Given the description of an element on the screen output the (x, y) to click on. 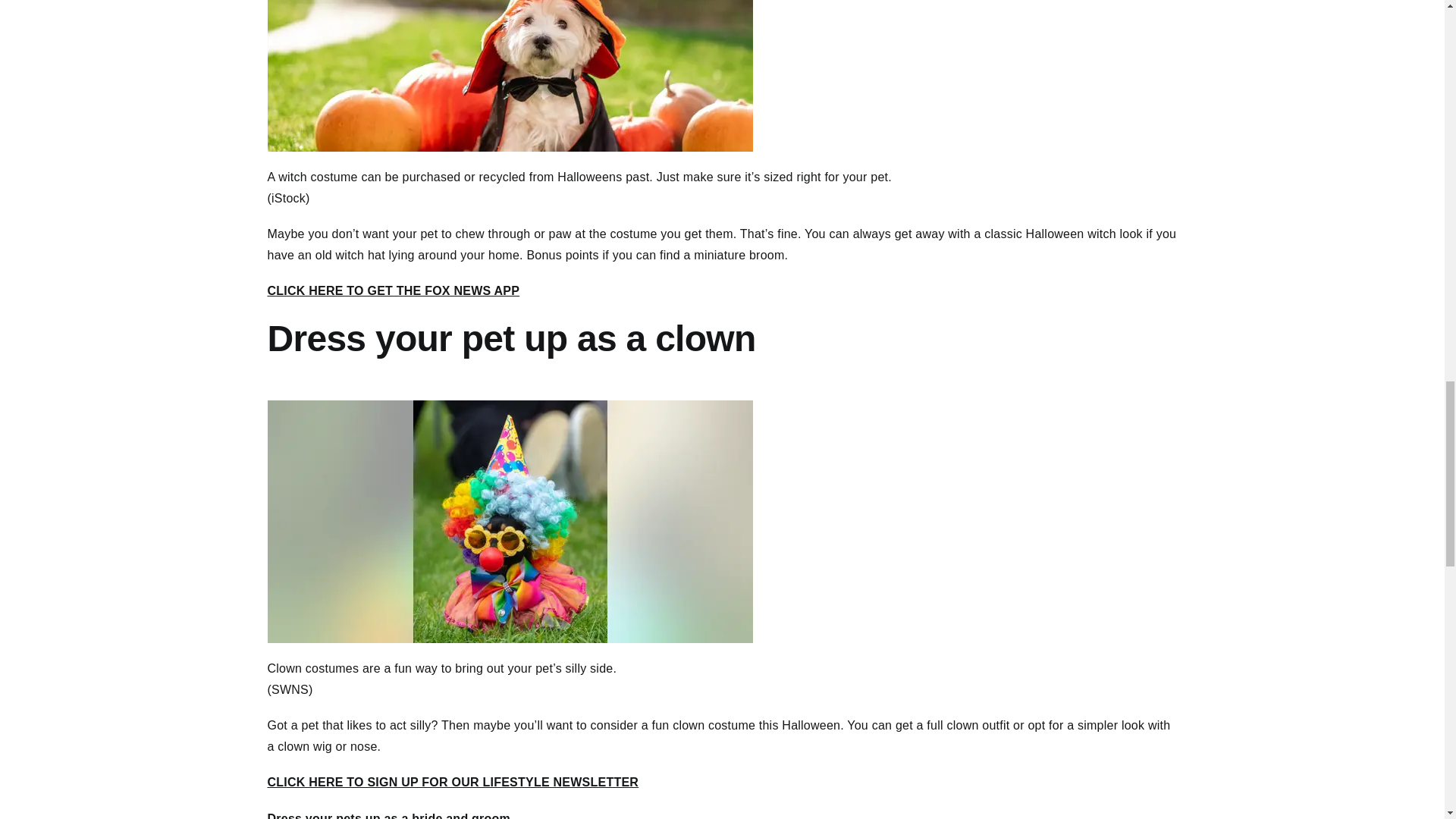
CLICK HERE TO SIGN UP FOR OUR LIFESTYLE NEWSLETTER (452, 781)
